Given the description of an element on the screen output the (x, y) to click on. 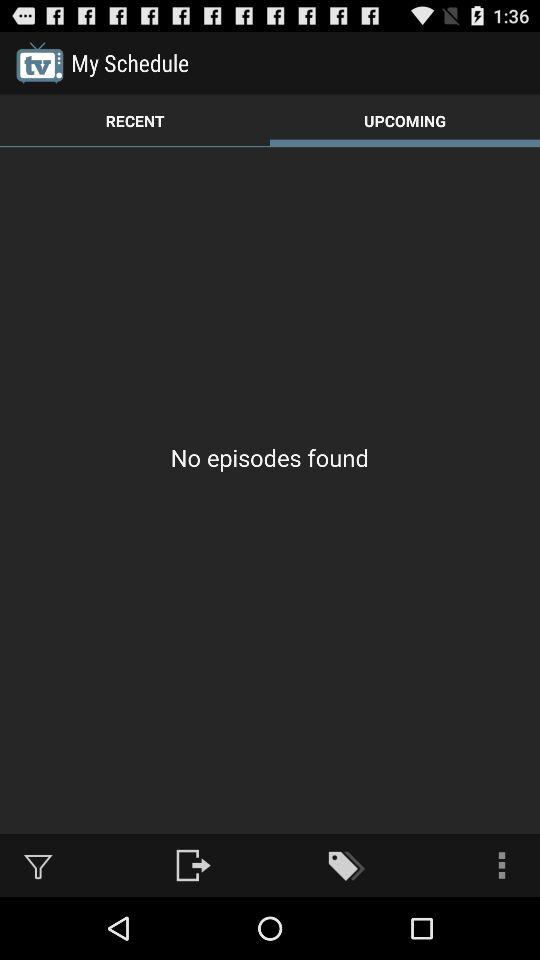
jump until recent item (135, 120)
